Given the description of an element on the screen output the (x, y) to click on. 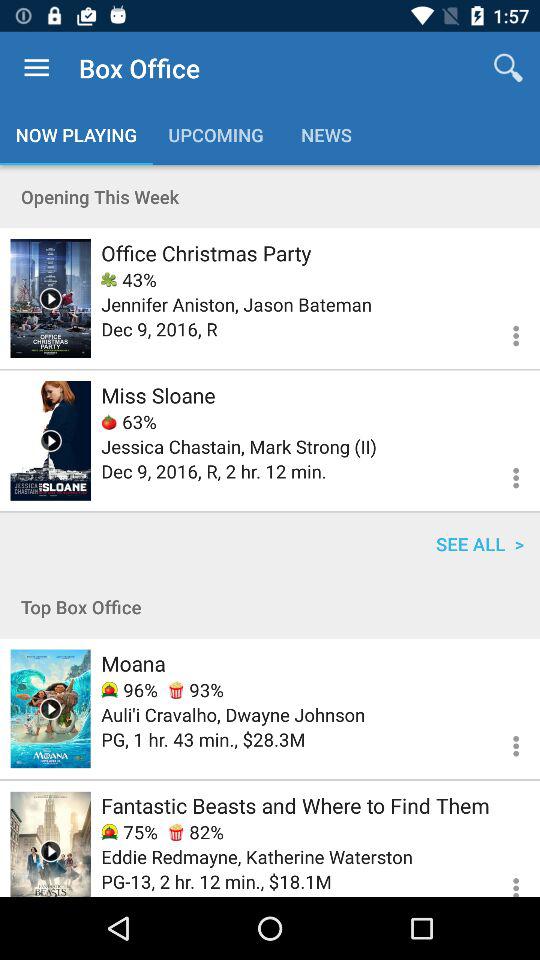
open options (503, 878)
